Given the description of an element on the screen output the (x, y) to click on. 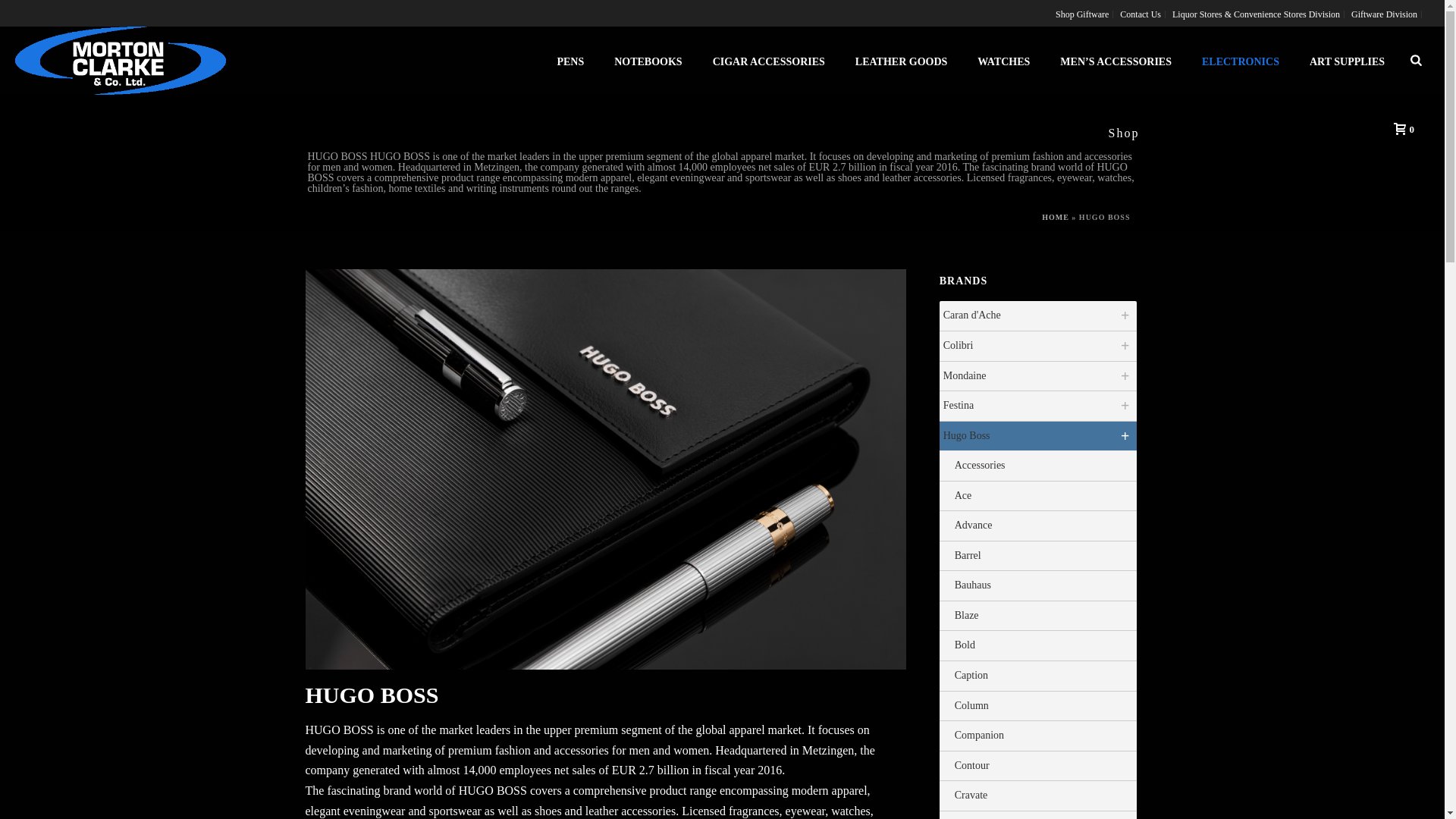
WATCHES (1003, 60)
CIGAR ACCESSORIES (768, 60)
Contact Us (1141, 14)
Shop Giftware (1082, 14)
Morton Clarke Giftware (119, 60)
NOTEBOOKS (647, 60)
CIGAR ACCESSORIES (768, 60)
LEATHER GOODS (901, 60)
LEATHER GOODS (901, 60)
NOTEBOOKS (647, 60)
ELECTRONICS (1240, 60)
ART SUPPLIES (1346, 60)
Giftware Division (1385, 14)
WATCHES (1003, 60)
